Given the description of an element on the screen output the (x, y) to click on. 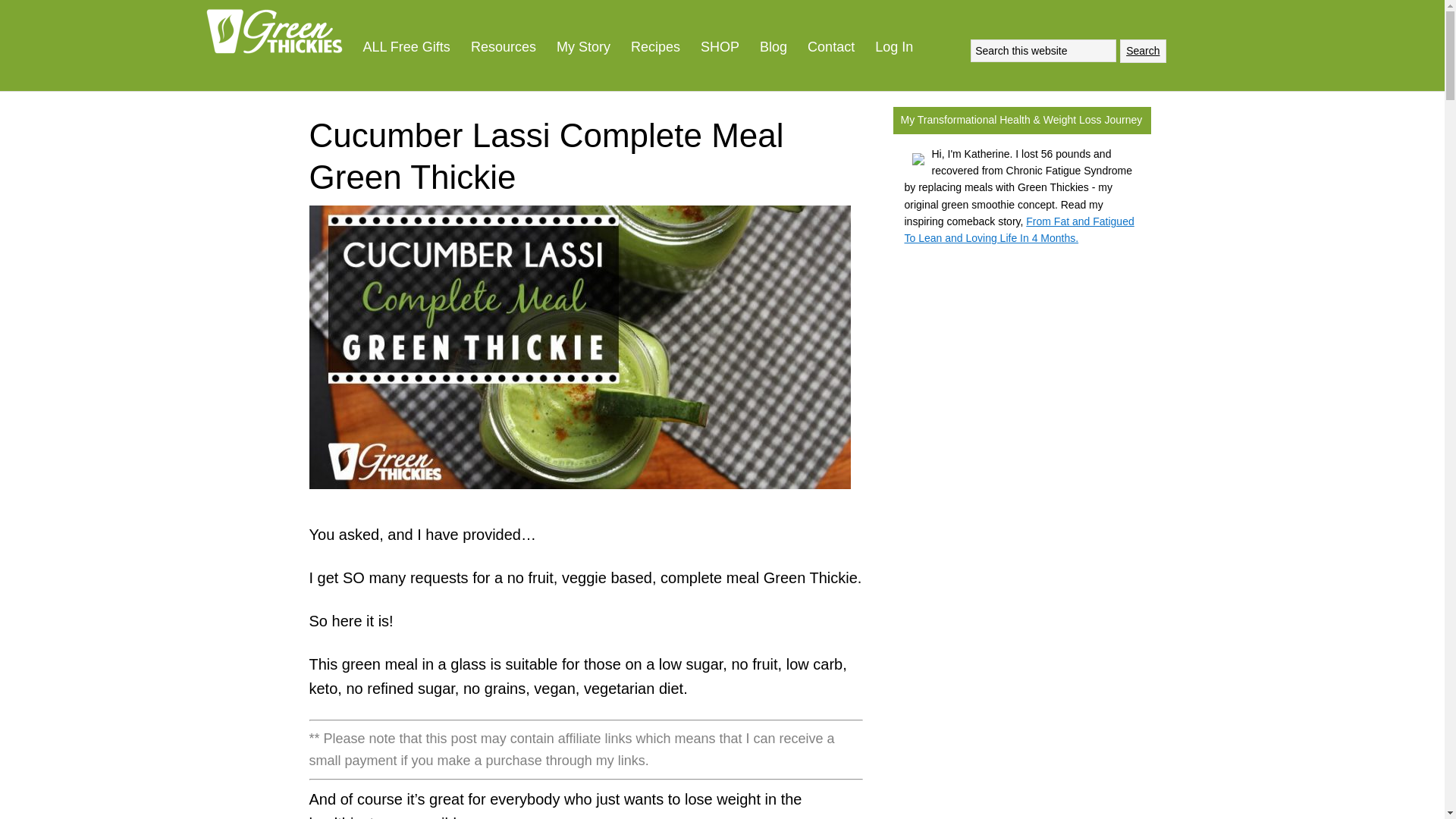
Blog (772, 46)
Search (1142, 51)
Green Thickies Blog (772, 46)
ALL Free Gifts (406, 46)
Contact (831, 46)
Resources (503, 46)
Search (1142, 51)
SHOP (720, 46)
My Story (583, 46)
